Given the description of an element on the screen output the (x, y) to click on. 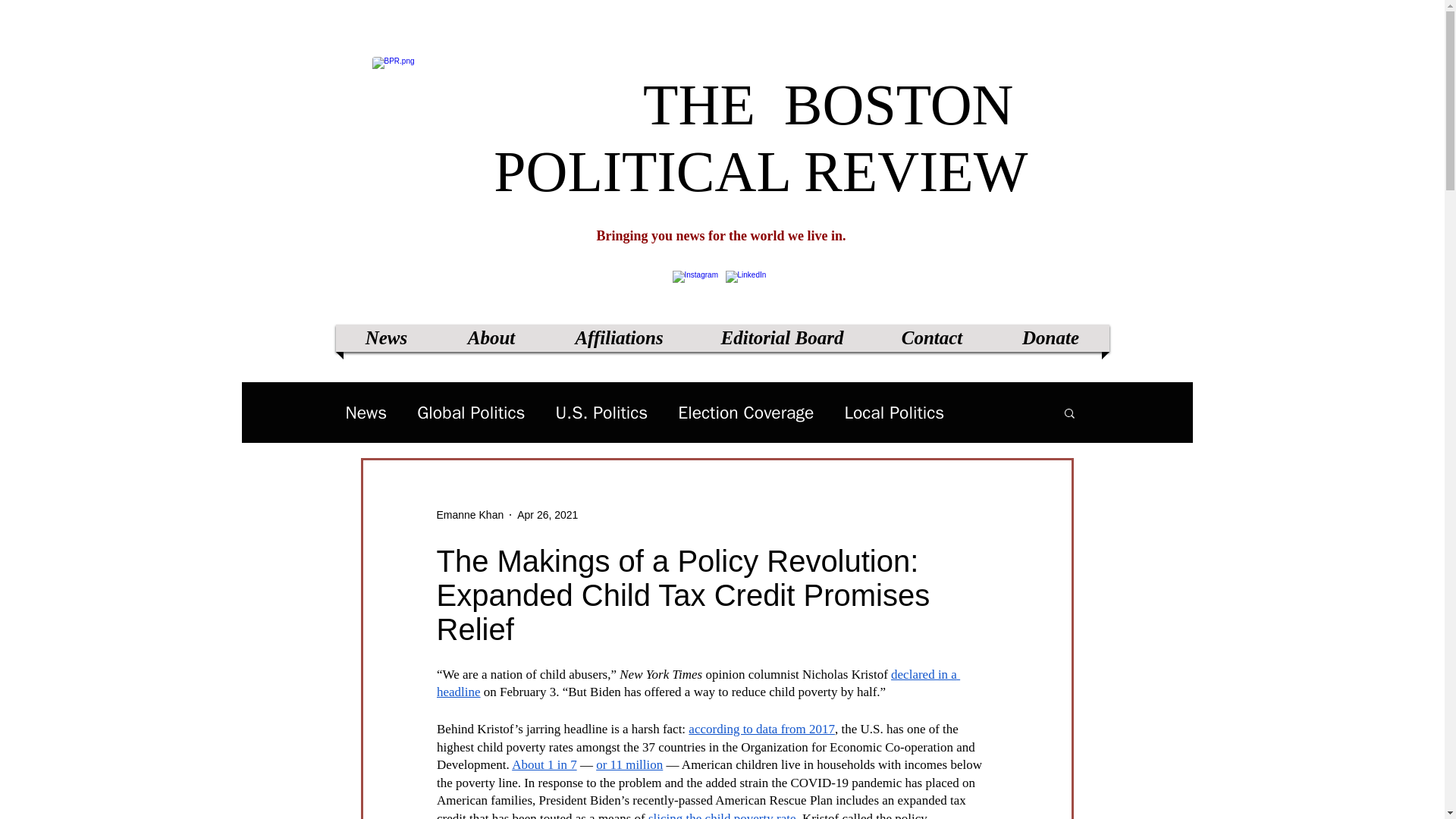
Affiliations (618, 338)
U.S. Politics (601, 412)
declared in a headline (697, 683)
News (386, 338)
About 1 in 7 (544, 764)
Donate (1050, 338)
About (491, 338)
or 11 million (628, 764)
Contact (931, 338)
Apr 26, 2021 (547, 513)
Election Coverage (745, 412)
News (366, 412)
Global Politics (470, 412)
according to data from 2017 (761, 728)
slicing the child poverty rate (720, 815)
